Given the description of an element on the screen output the (x, y) to click on. 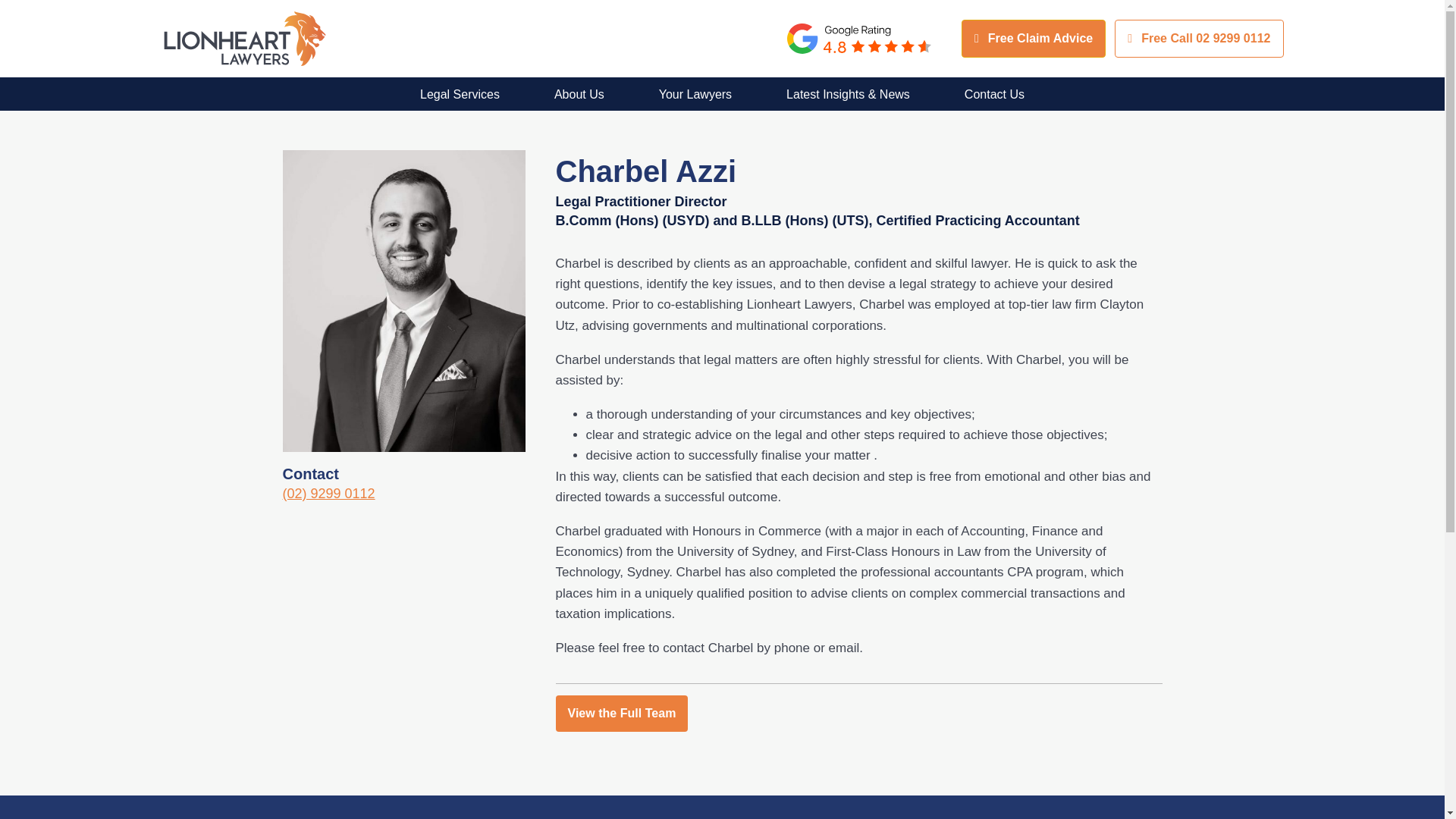
Free Claim Advice (1032, 38)
Legal Services (459, 94)
Free Call 02 9299 0112 (1198, 38)
